Given the description of an element on the screen output the (x, y) to click on. 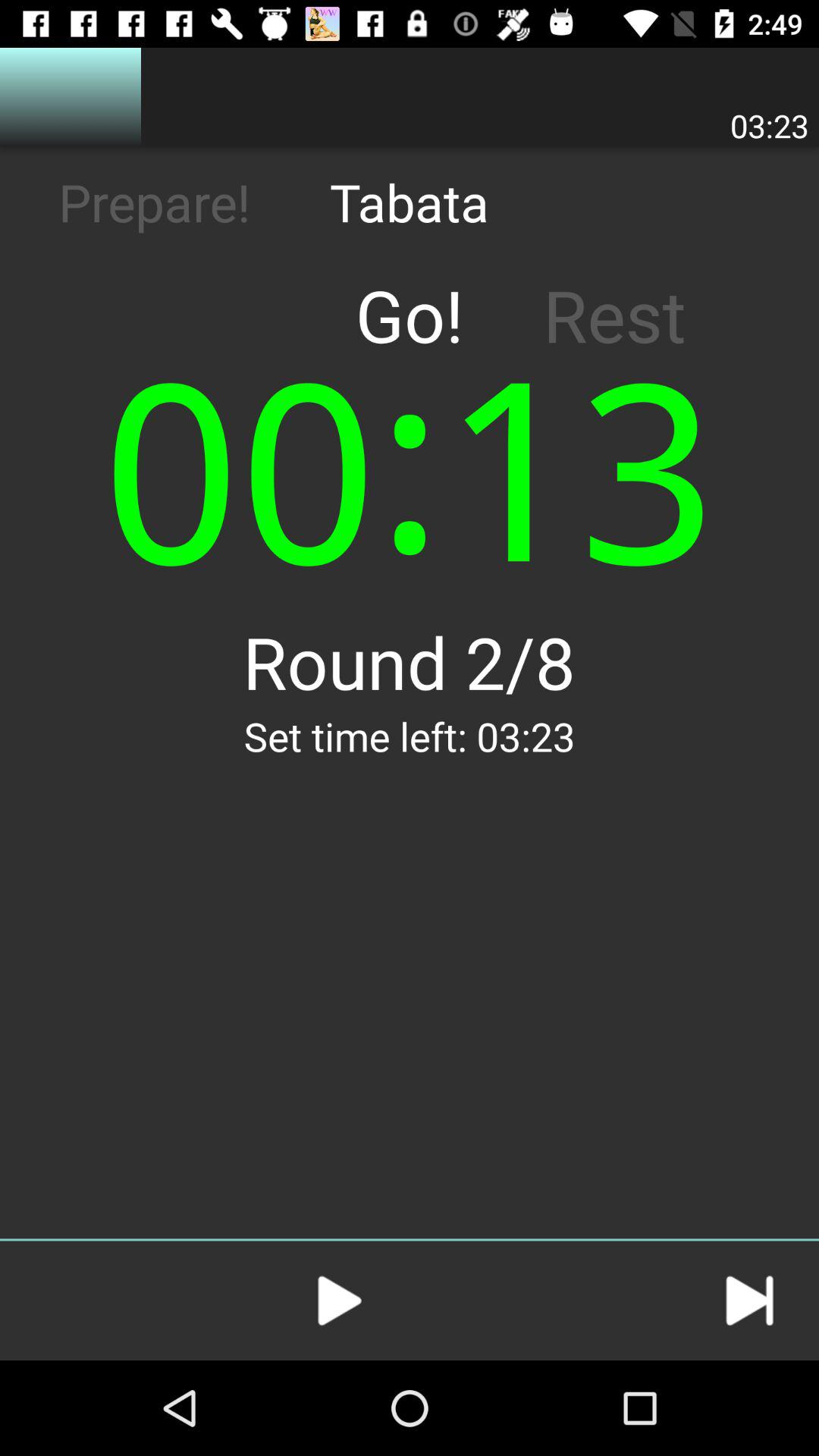
select the next option (749, 1300)
